Given the description of an element on the screen output the (x, y) to click on. 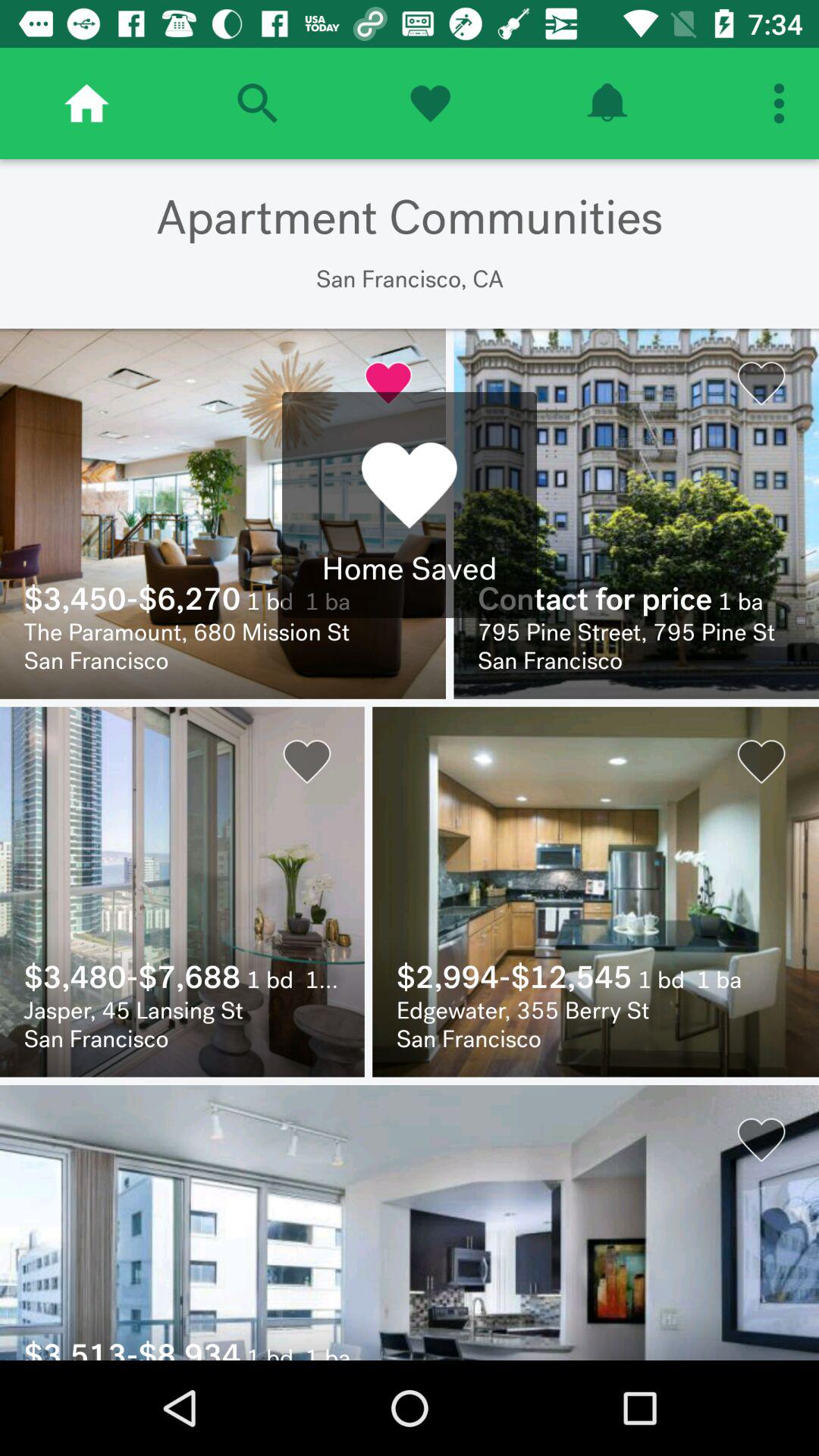
heart icon (429, 103)
